Given the description of an element on the screen output the (x, y) to click on. 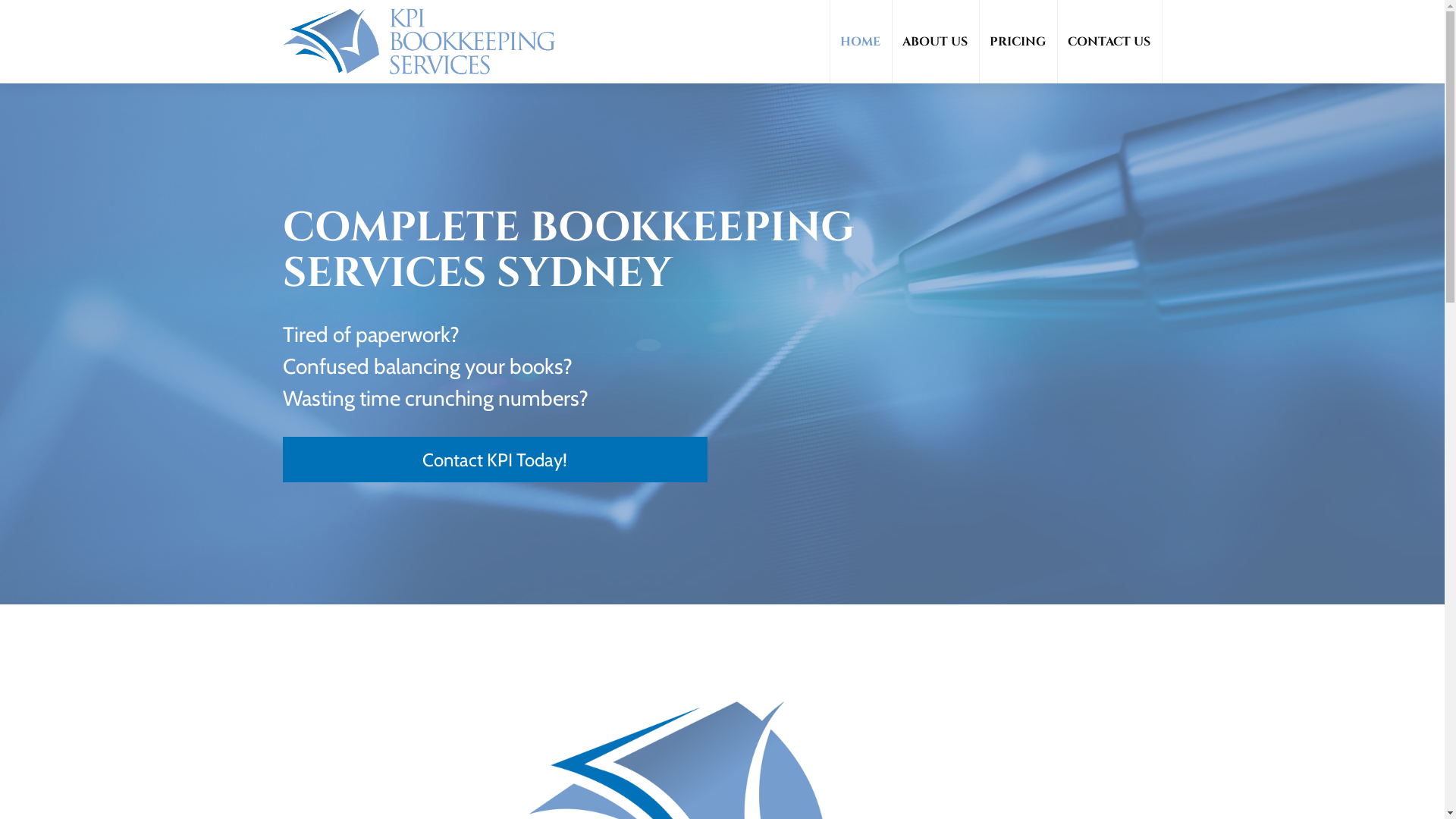
ABOUT US Element type: text (934, 41)
Contact KPI Today! Element type: text (494, 459)
PRICING Element type: text (1018, 41)
HOME Element type: text (860, 41)
CONTACT US Element type: text (1109, 41)
